Given the description of an element on the screen output the (x, y) to click on. 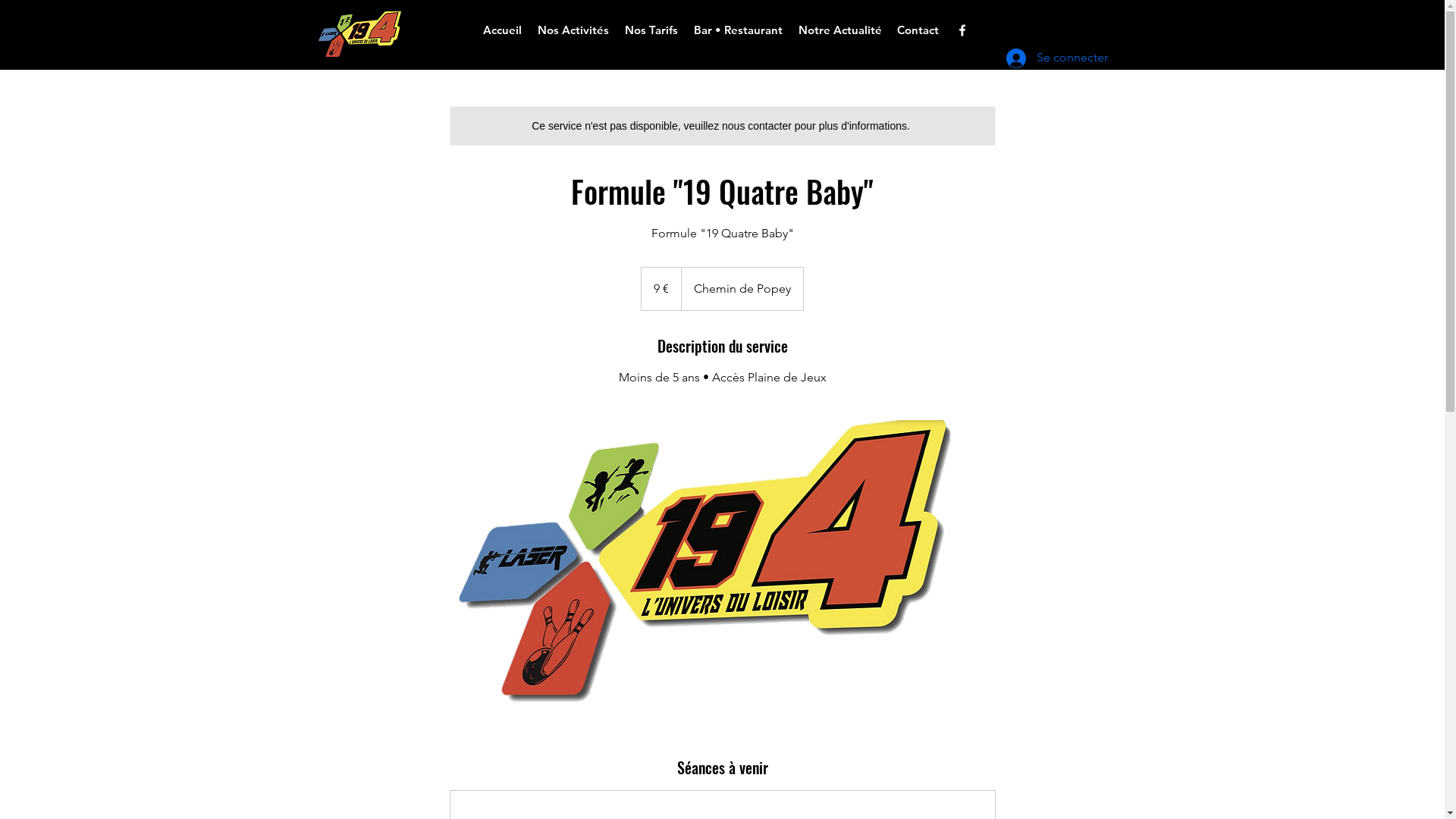
Accueil Element type: text (501, 29)
Se connecter Element type: text (1039, 57)
Nos Tarifs Element type: text (651, 29)
Contact Element type: text (916, 29)
